Given the description of an element on the screen output the (x, y) to click on. 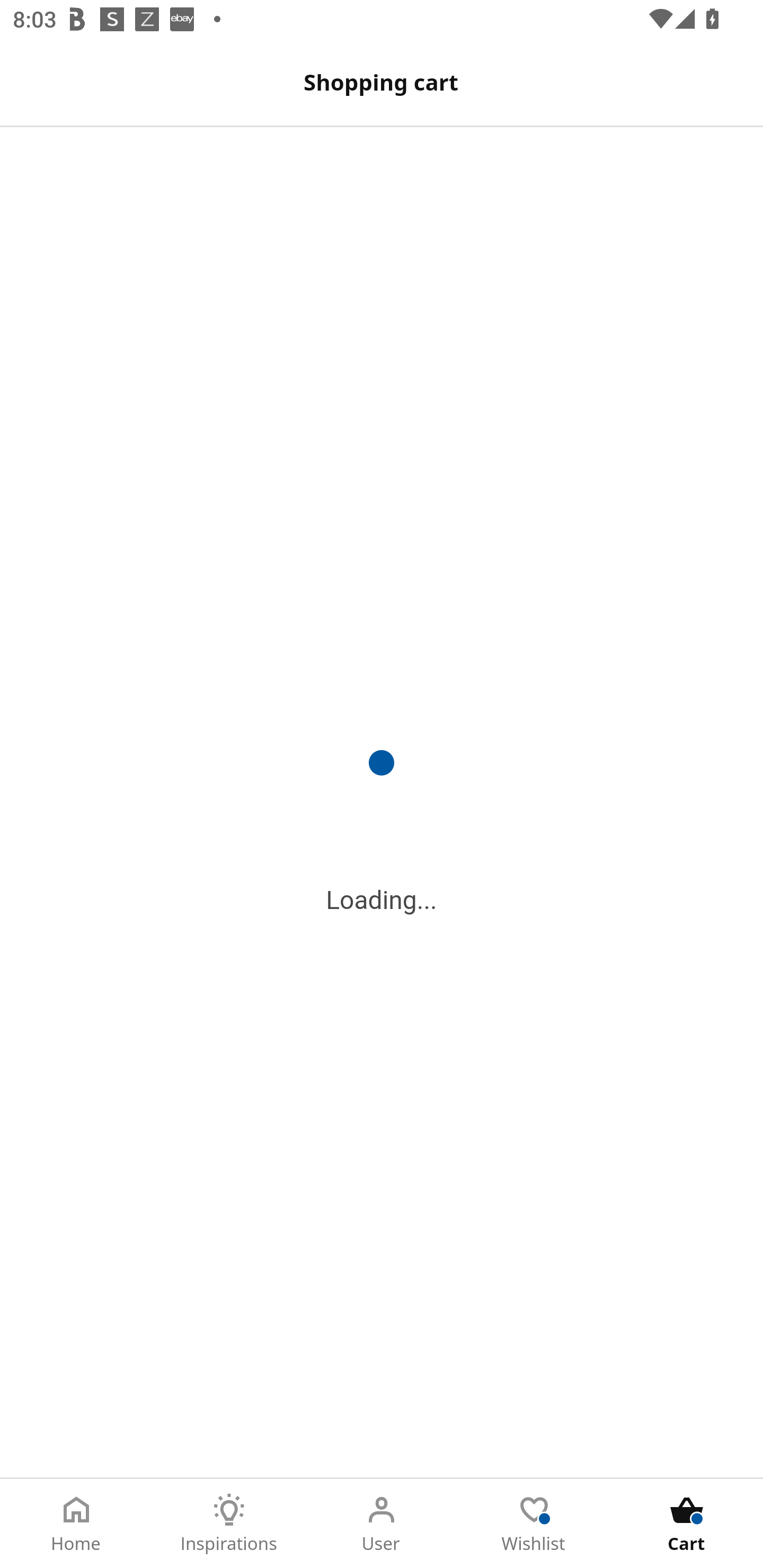
Home
Tab 1 of 5 (76, 1522)
Inspirations
Tab 2 of 5 (228, 1522)
User
Tab 3 of 5 (381, 1522)
Wishlist
Tab 4 of 5 (533, 1522)
Cart
Tab 5 of 5 (686, 1522)
